Given the description of an element on the screen output the (x, y) to click on. 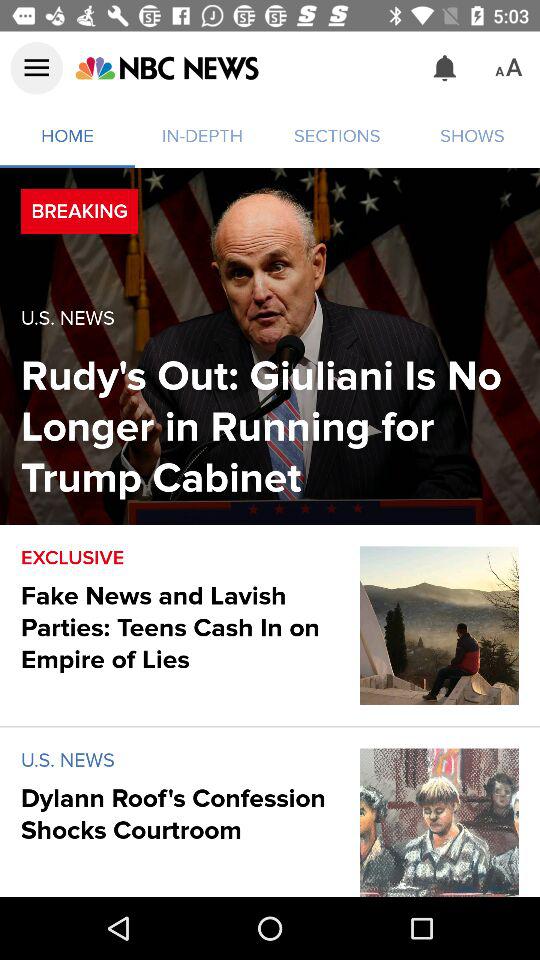
launch the icon above shows item (508, 67)
